Given the description of an element on the screen output the (x, y) to click on. 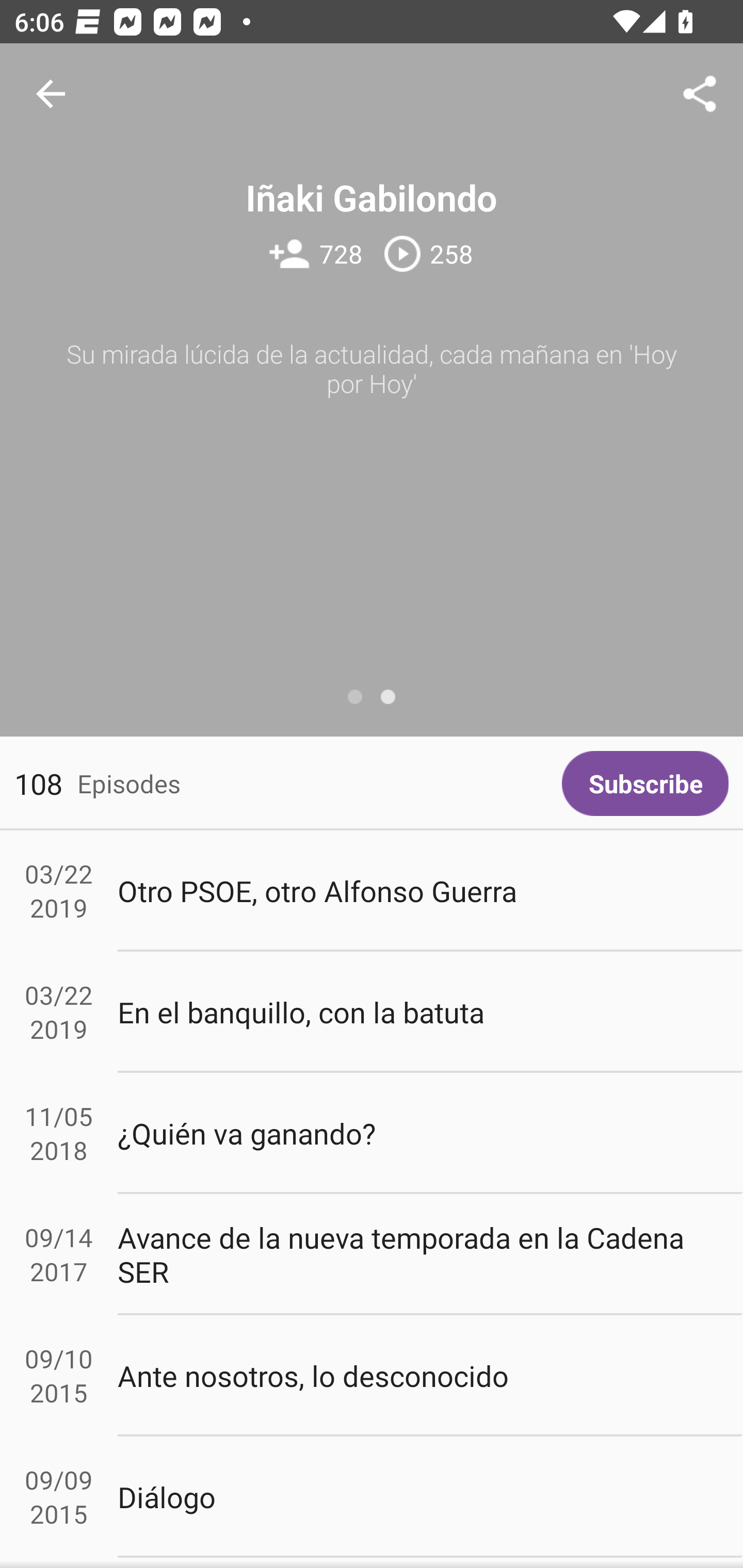
Navigate up (50, 93)
Share... (699, 93)
Subscribe (644, 783)
03/22 2019 Otro PSOE, otro Alfonso Guerra (371, 891)
03/22 2019 En el banquillo, con la batuta (371, 1011)
11/05 2018 ¿Quién va ganando? (371, 1133)
09/10 2015 Ante nosotros, lo desconocido (371, 1375)
09/09 2015 Diálogo (371, 1496)
